Given the description of an element on the screen output the (x, y) to click on. 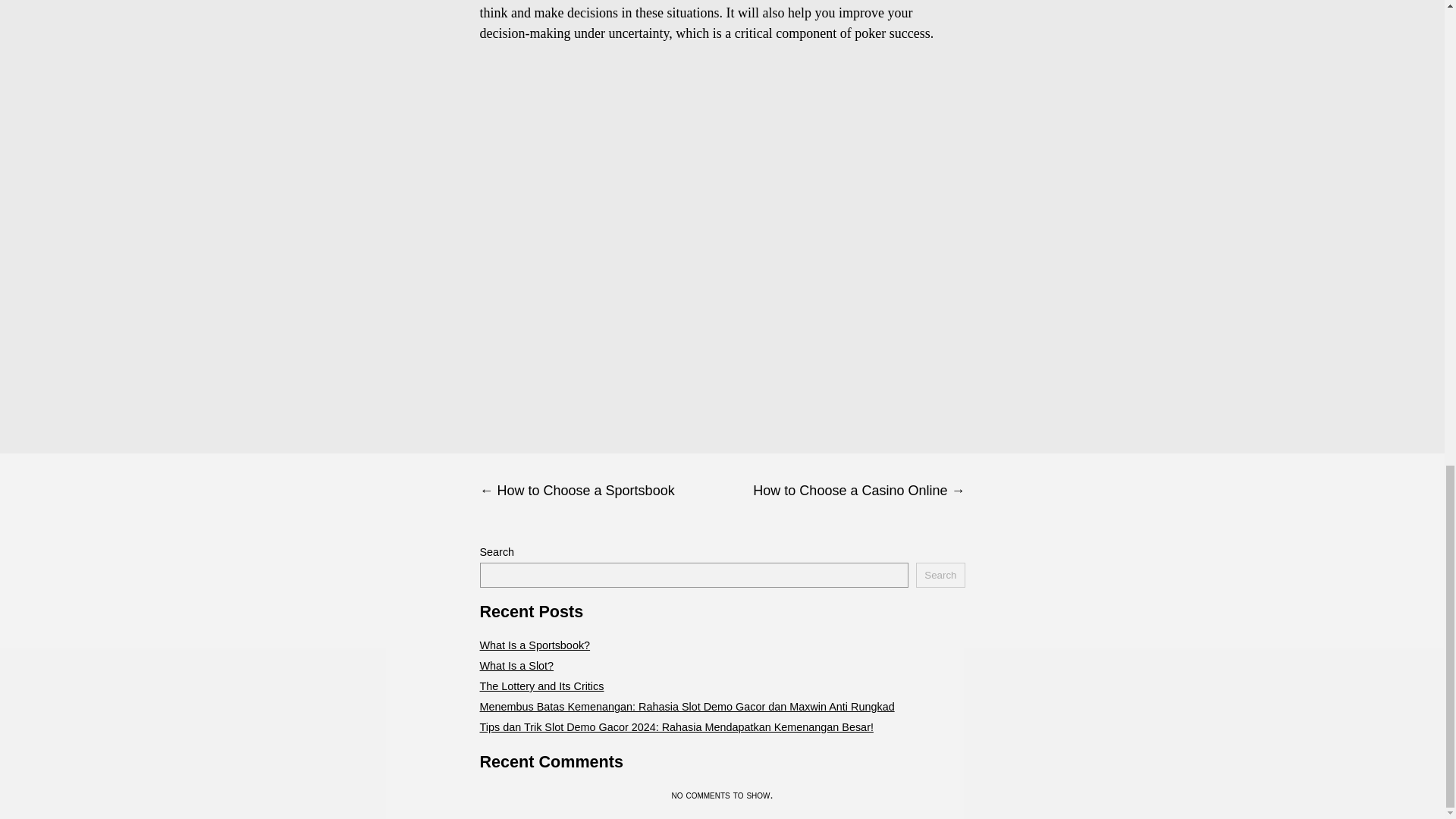
What Is a Sportsbook? (534, 645)
Search (939, 575)
What Is a Slot? (516, 665)
How to Choose a Sportsbook (600, 490)
How to Choose a Casino Online (842, 490)
The Lottery and Its Critics (541, 686)
